Given the description of an element on the screen output the (x, y) to click on. 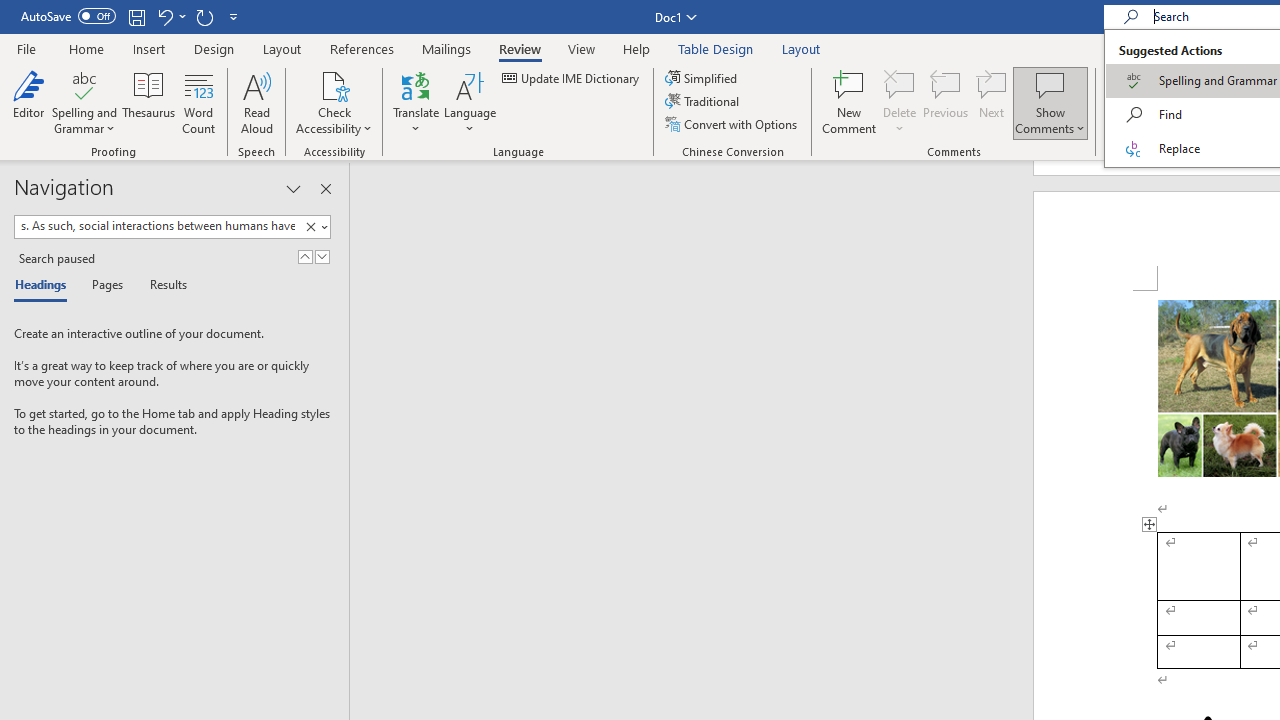
Spelling and Grammar (84, 84)
Search document (157, 226)
Reviewing Pane (1221, 124)
Class: NetUIImage (310, 226)
Task Pane Options (293, 188)
Customize Quick Access Toolbar (234, 15)
More Options (1134, 121)
Show Comments (1050, 84)
Home (86, 48)
Word Count (198, 102)
Insert (149, 48)
Review (520, 48)
Thesaurus... (148, 102)
Editor (28, 102)
References (362, 48)
